Given the description of an element on the screen output the (x, y) to click on. 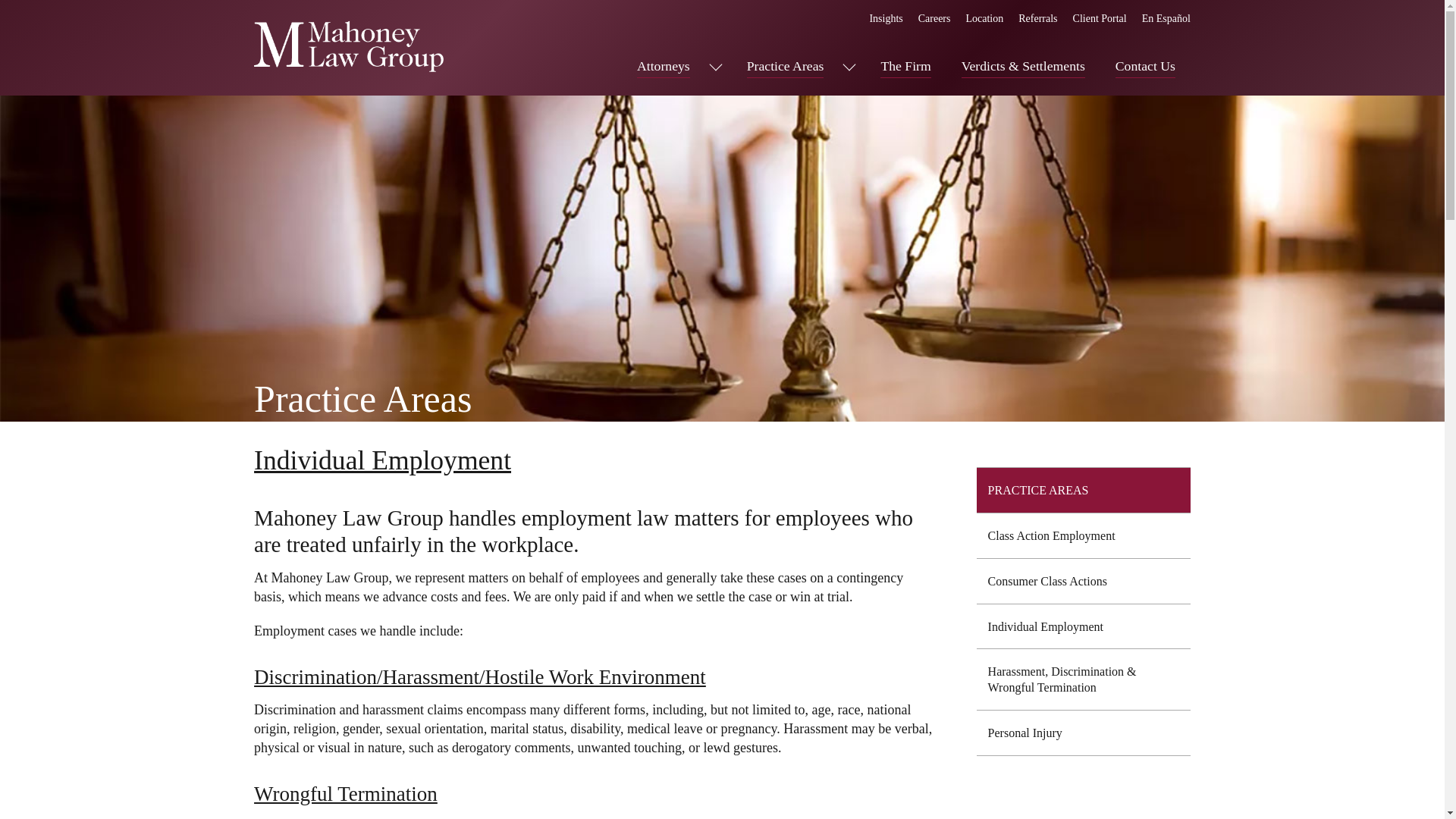
Careers (934, 18)
Personal Injury (1083, 732)
Client Portal (1099, 18)
Location (984, 18)
PRACTICE AREAS (1083, 489)
Consumer Class Actions (1083, 580)
Attorneys (663, 65)
Practice Areas (785, 65)
The Firm (905, 65)
Insights (885, 18)
Individual Employment (1083, 626)
Referrals (1037, 18)
Contact Us (1144, 65)
Class Action Employment (1083, 535)
